Given the description of an element on the screen output the (x, y) to click on. 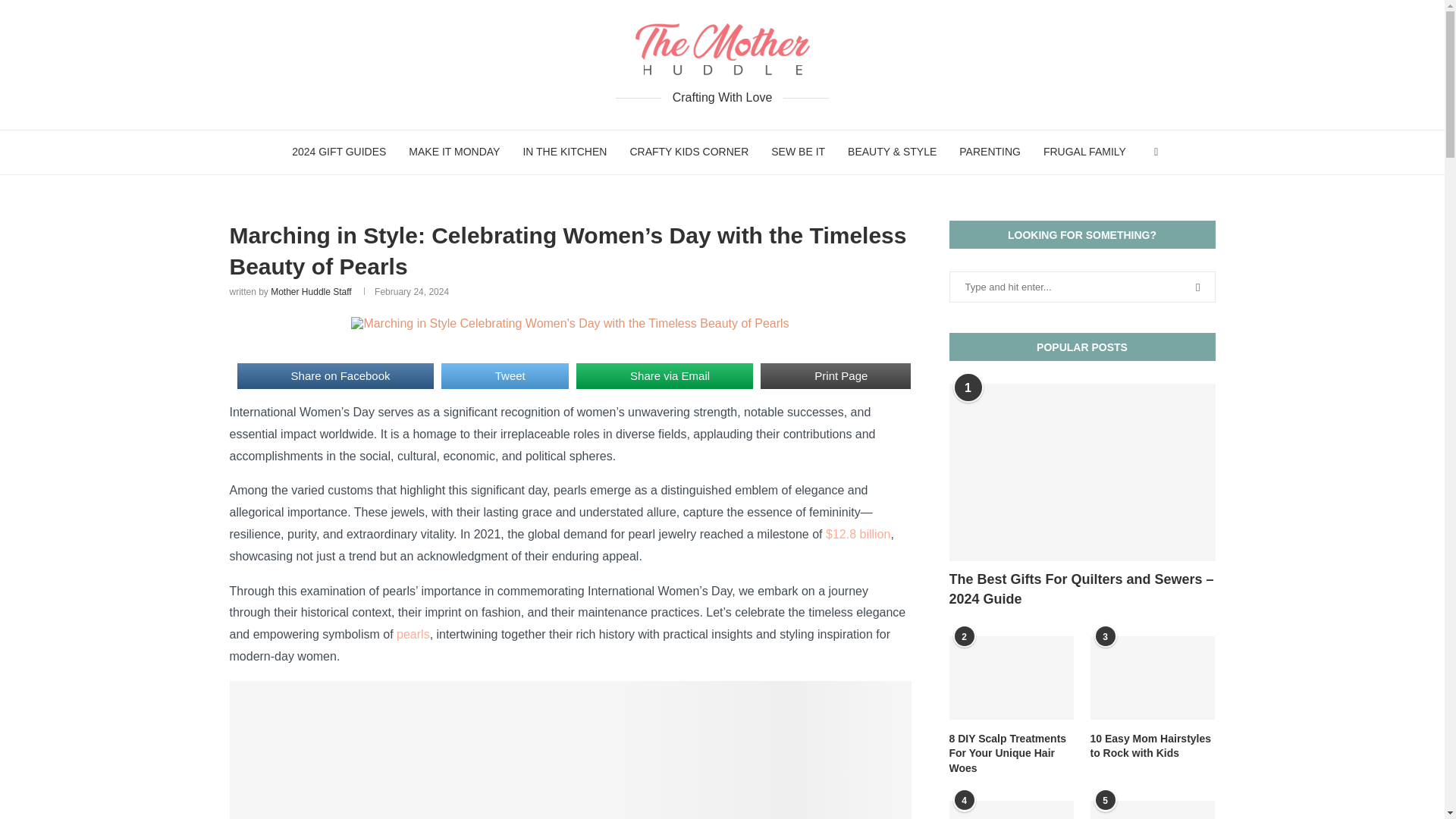
Mother Huddle Staff (311, 291)
SEW BE IT (797, 152)
PARENTING (989, 152)
Share on Facebook (333, 375)
2024 GIFT GUIDES (339, 152)
Tweet (505, 375)
Share via Email (664, 375)
IN THE KITCHEN (564, 152)
FRUGAL FAMILY (1084, 152)
Print Page (835, 375)
